Given the description of an element on the screen output the (x, y) to click on. 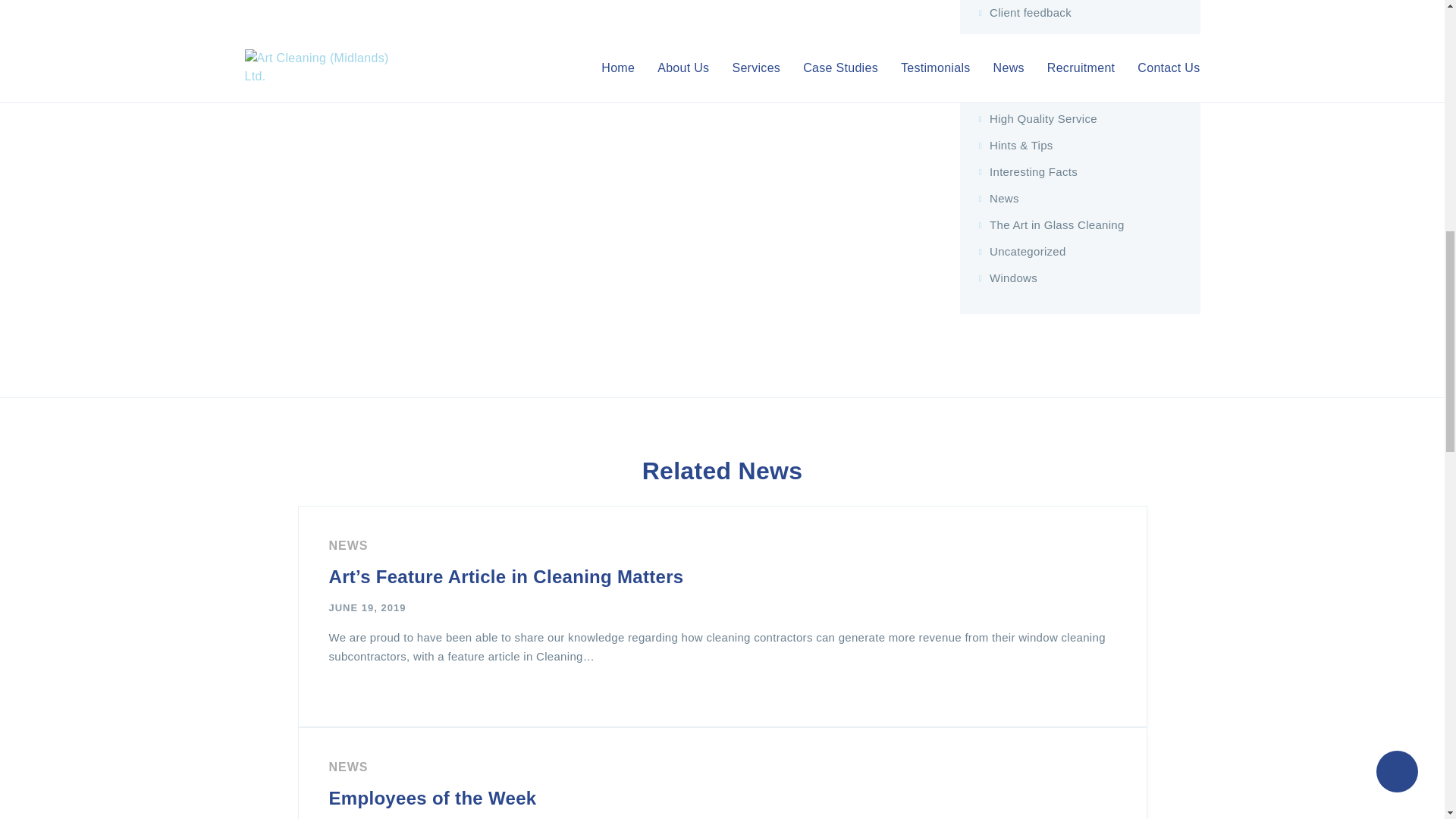
News (348, 766)
News (348, 545)
Employees of the Week (433, 797)
